Given the description of an element on the screen output the (x, y) to click on. 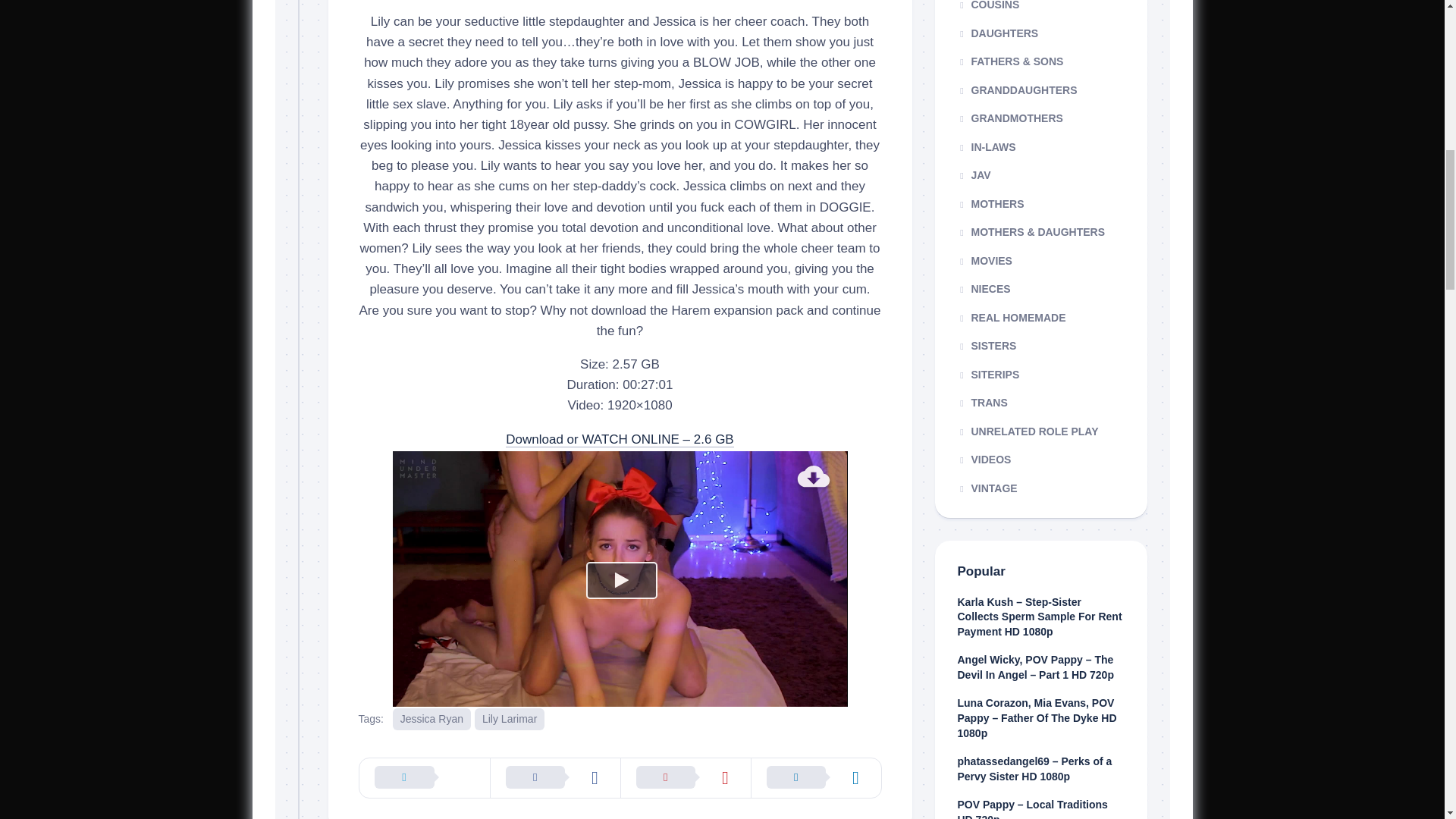
DAUGHTERS (997, 33)
Lily Larimar (509, 719)
COUSINS (987, 5)
Share on LinkedIn (815, 777)
Jessica Ryan (431, 719)
Share on Facebook (554, 777)
Share on Pinterest (685, 777)
Share on X (424, 777)
